Given the description of an element on the screen output the (x, y) to click on. 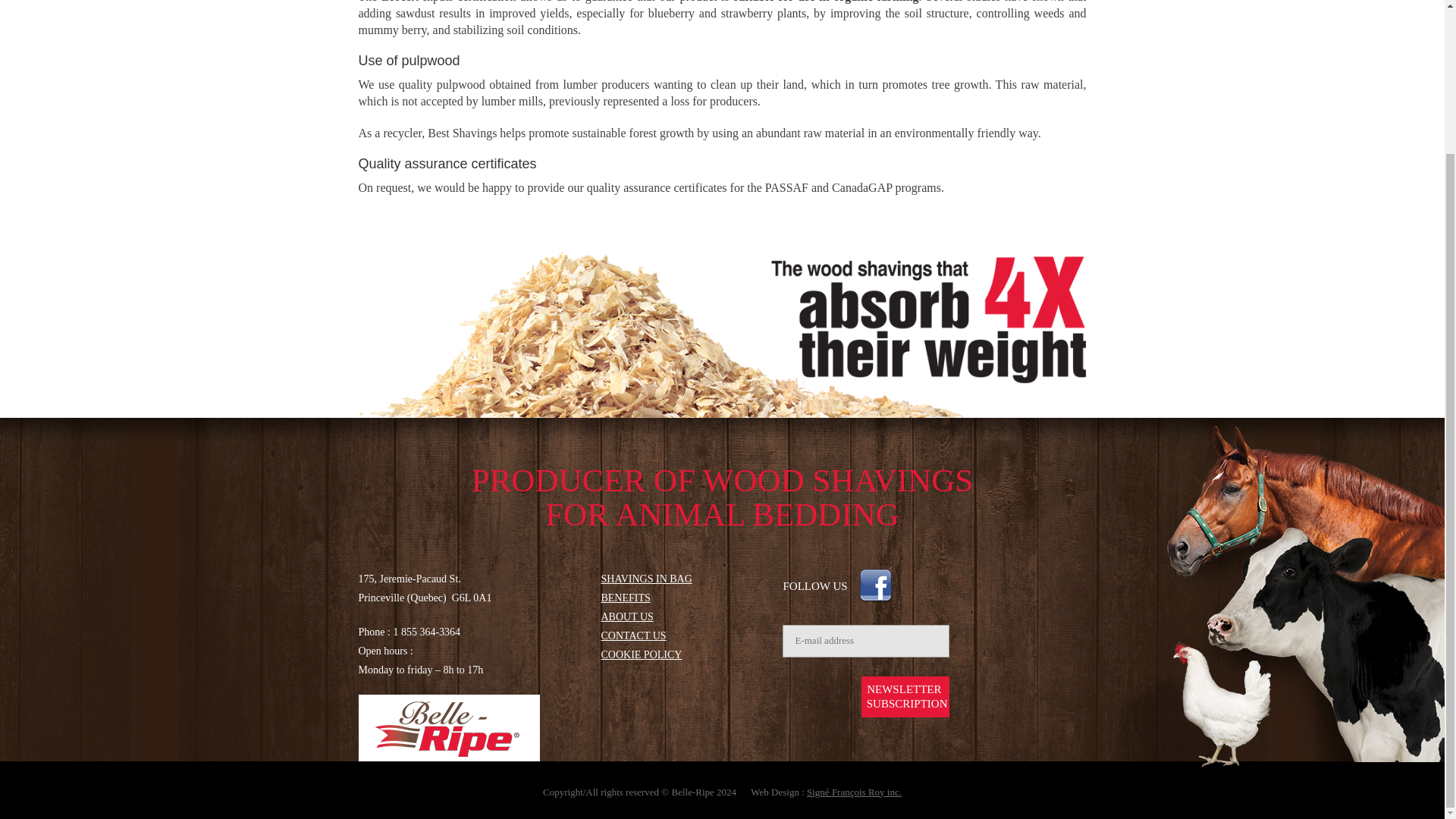
CONTACT US (905, 696)
SHAVINGS IN BAG (632, 635)
BENEFITS (645, 578)
COOKIE POLICY (905, 696)
ABOUT US (624, 597)
